Given the description of an element on the screen output the (x, y) to click on. 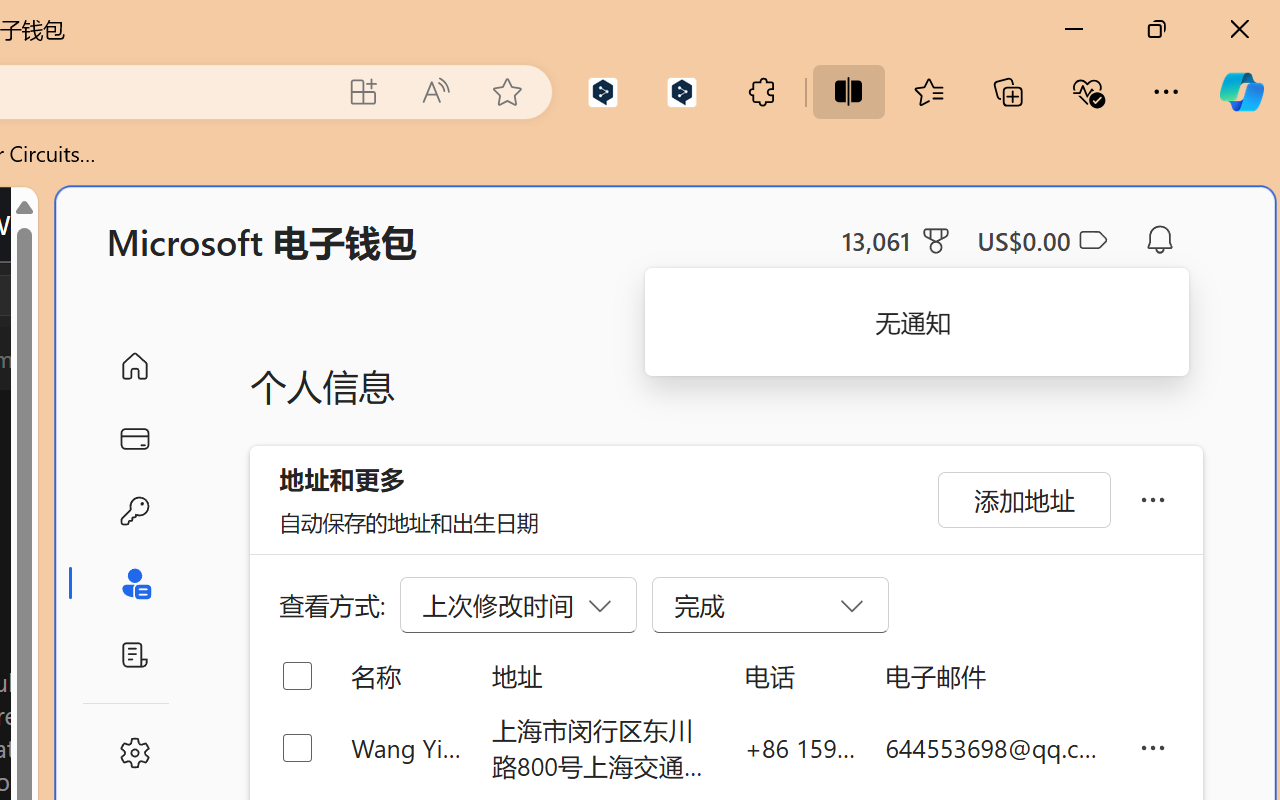
644553698@qq.com (996, 747)
Class: ___1lmltc5 f1agt3bx f12qytpq (1092, 241)
